Given the description of an element on the screen output the (x, y) to click on. 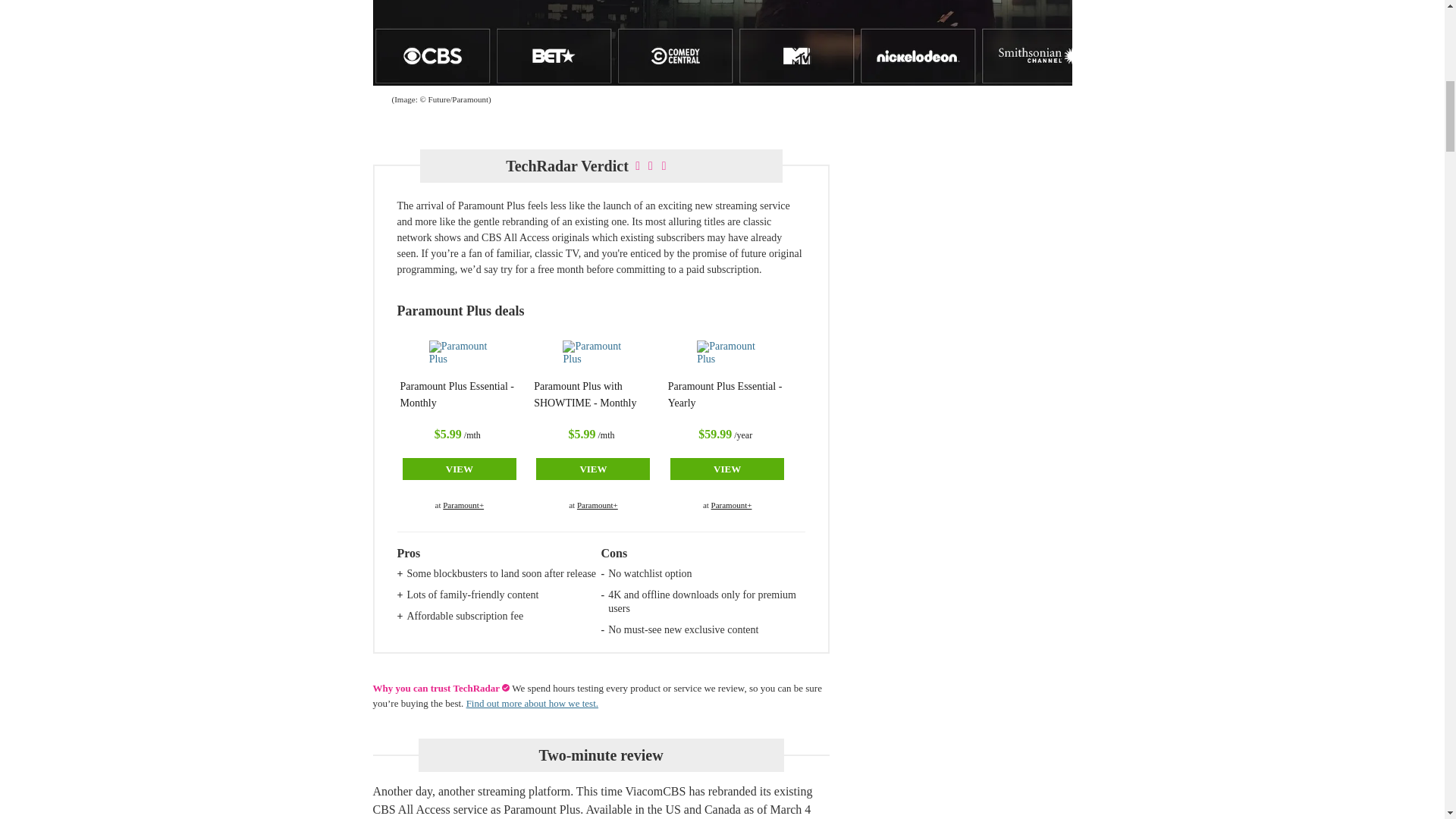
Paramount Plus (459, 355)
Paramount Plus (727, 355)
Paramount Plus (592, 355)
